Given the description of an element on the screen output the (x, y) to click on. 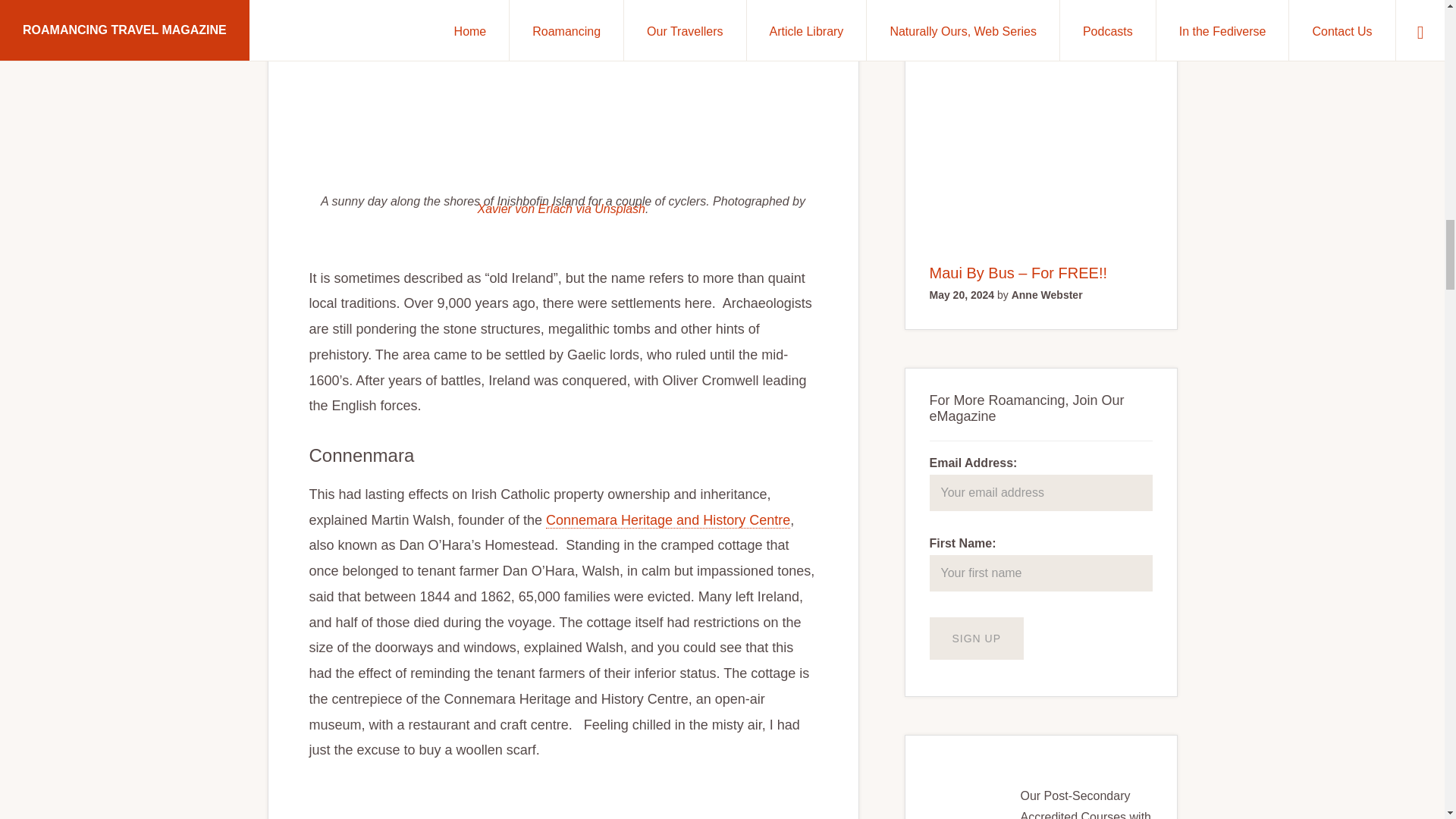
Connemara Heritage and History Centre (668, 520)
Xavier von Erlach via Unsplash (561, 208)
Sign up (977, 638)
